Given the description of an element on the screen output the (x, y) to click on. 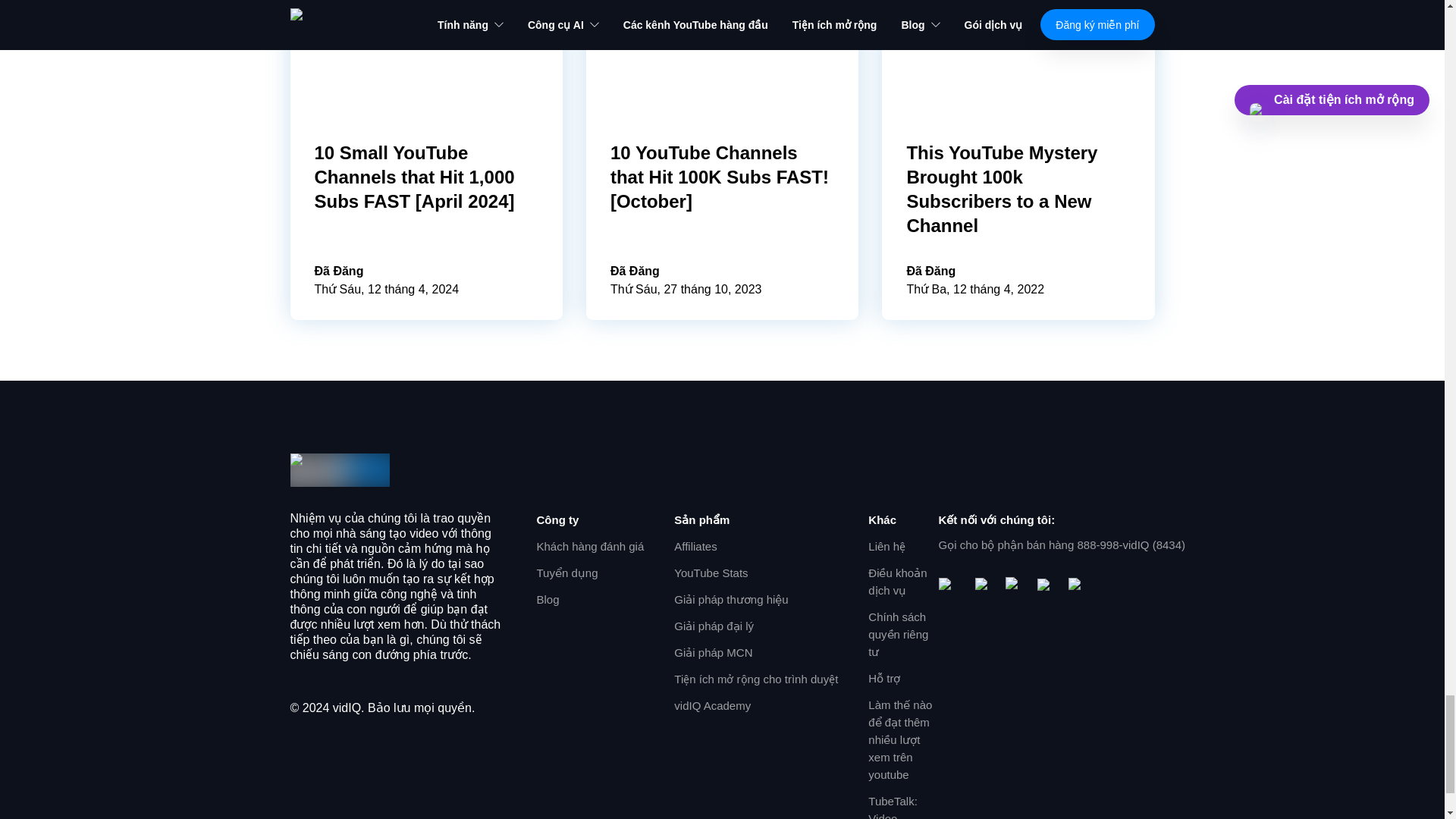
Facebook (983, 587)
LinkedIn (1076, 586)
Instagram (1015, 587)
YouTube (950, 587)
Twitter (1046, 586)
